Given the description of an element on the screen output the (x, y) to click on. 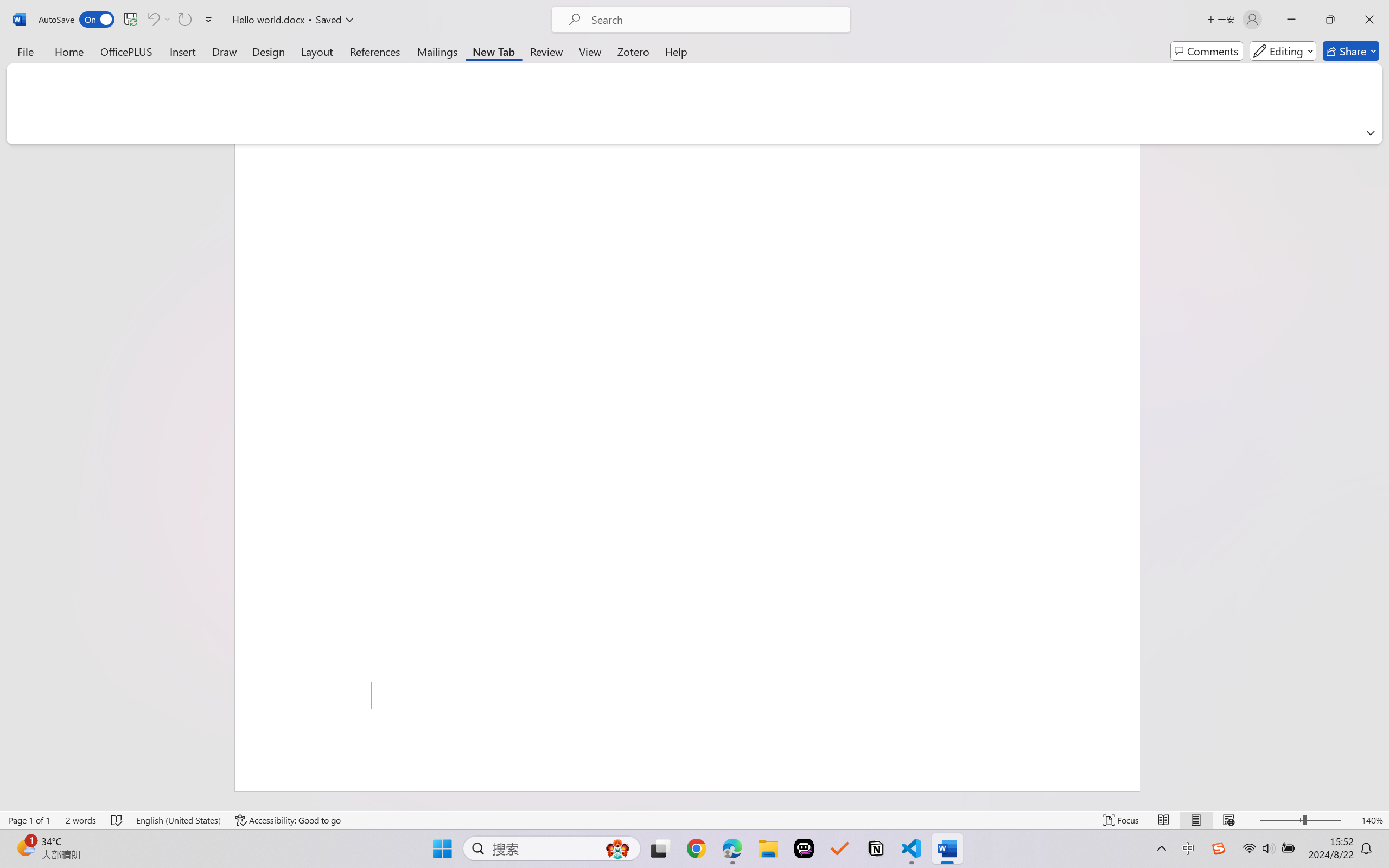
Mailings (437, 51)
AutomationID: DynamicSearchBoxGleamImage (617, 848)
Layout (316, 51)
Zoom (1300, 819)
Save (130, 19)
Mode (1283, 50)
Can't Undo (152, 19)
Close (1369, 19)
AutoSave (76, 19)
Can't Undo (158, 19)
New Tab (493, 51)
Design (268, 51)
Help (675, 51)
Class: MsoCommandBar (694, 819)
Draw (224, 51)
